Given the description of an element on the screen output the (x, y) to click on. 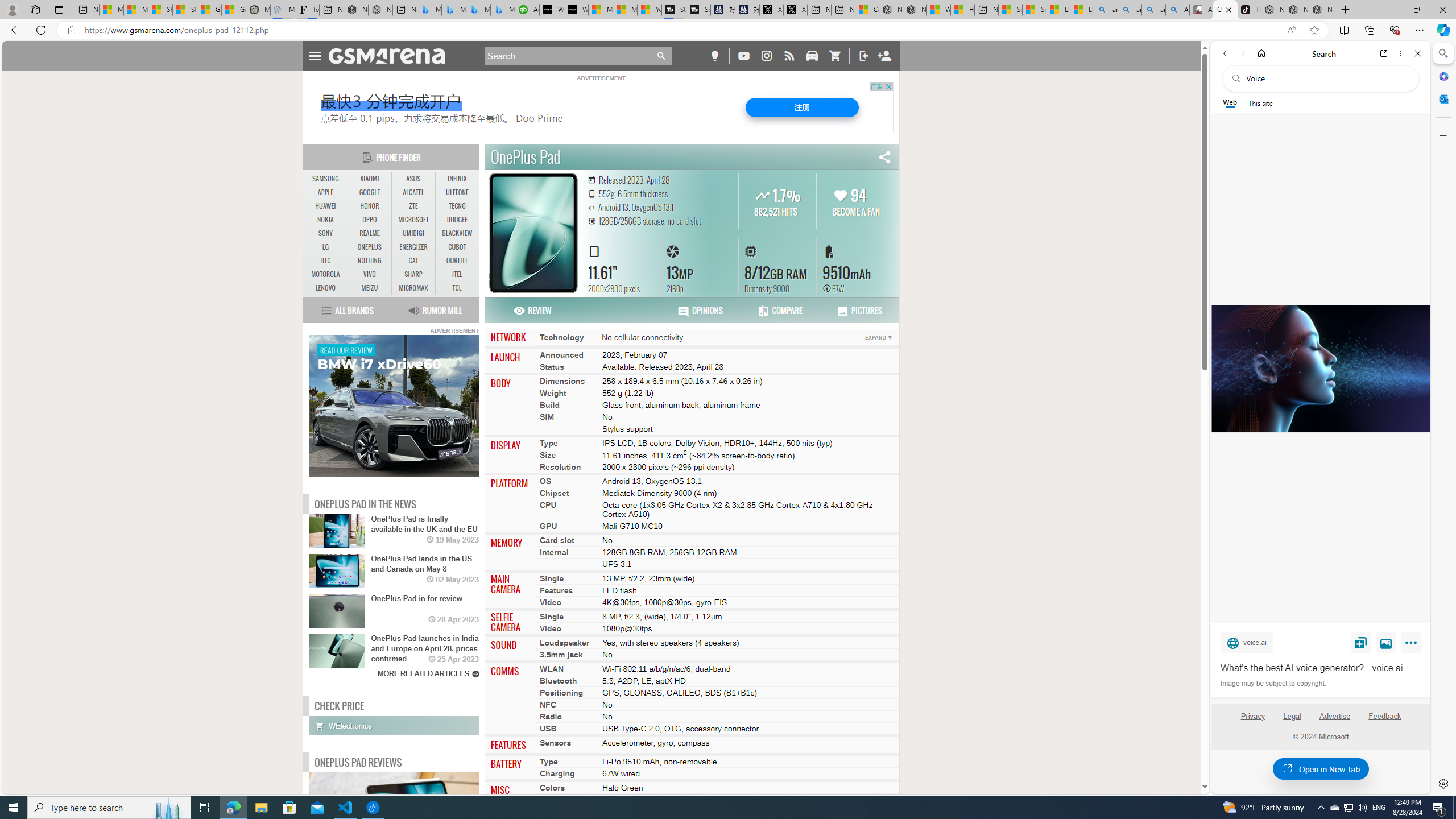
Nordace - Siena Pro 15 Essential Set (1321, 9)
